Given the description of an element on the screen output the (x, y) to click on. 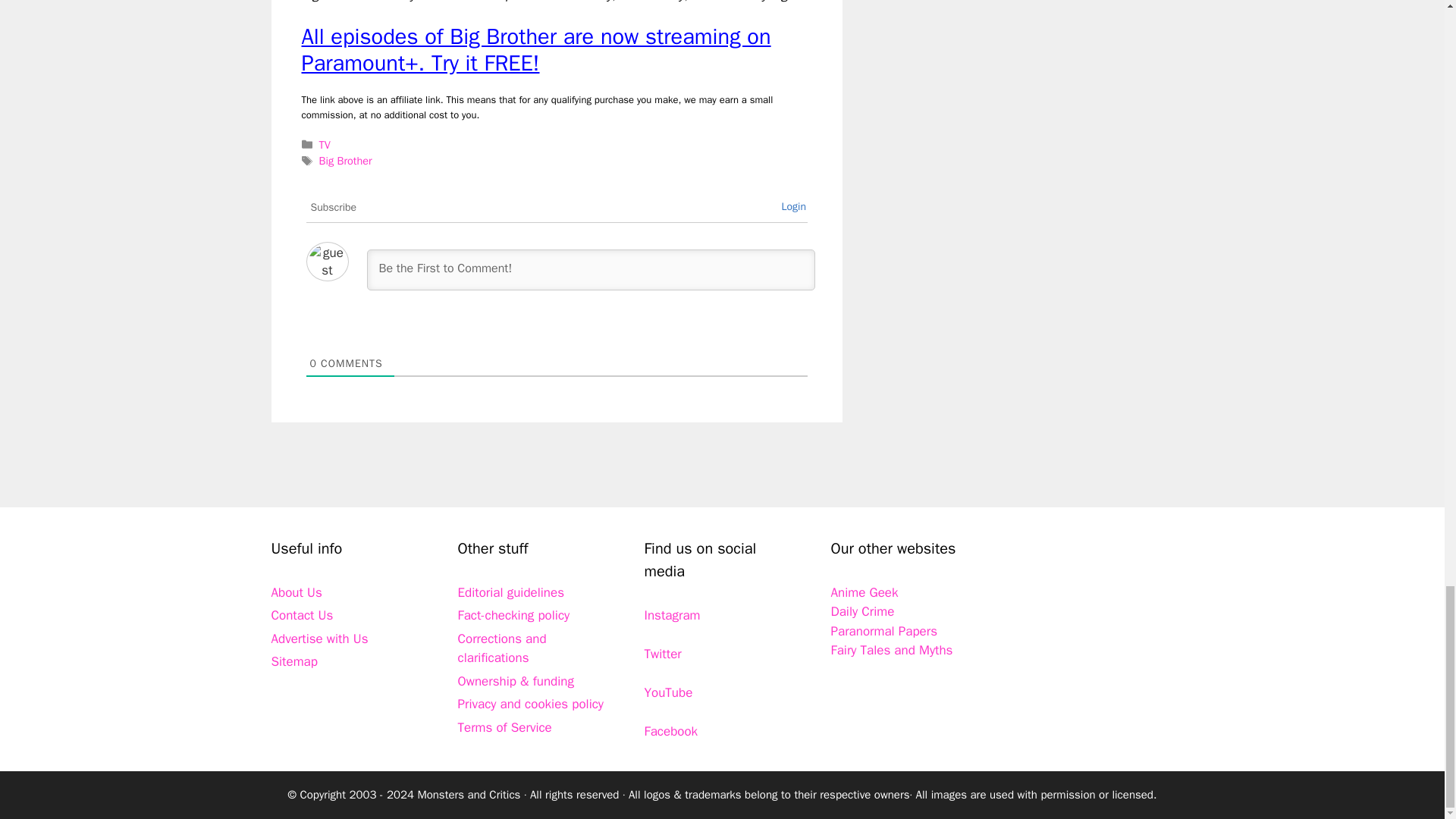
Login (793, 205)
Contact Us (301, 615)
Editorial guidelines (511, 592)
Corrections and clarifications (502, 648)
Fact-checking policy (514, 615)
Privacy and cookies policy (531, 703)
Advertise with Us (319, 638)
Sitemap (293, 661)
About Us (295, 592)
Big Brother (345, 160)
